Given the description of an element on the screen output the (x, y) to click on. 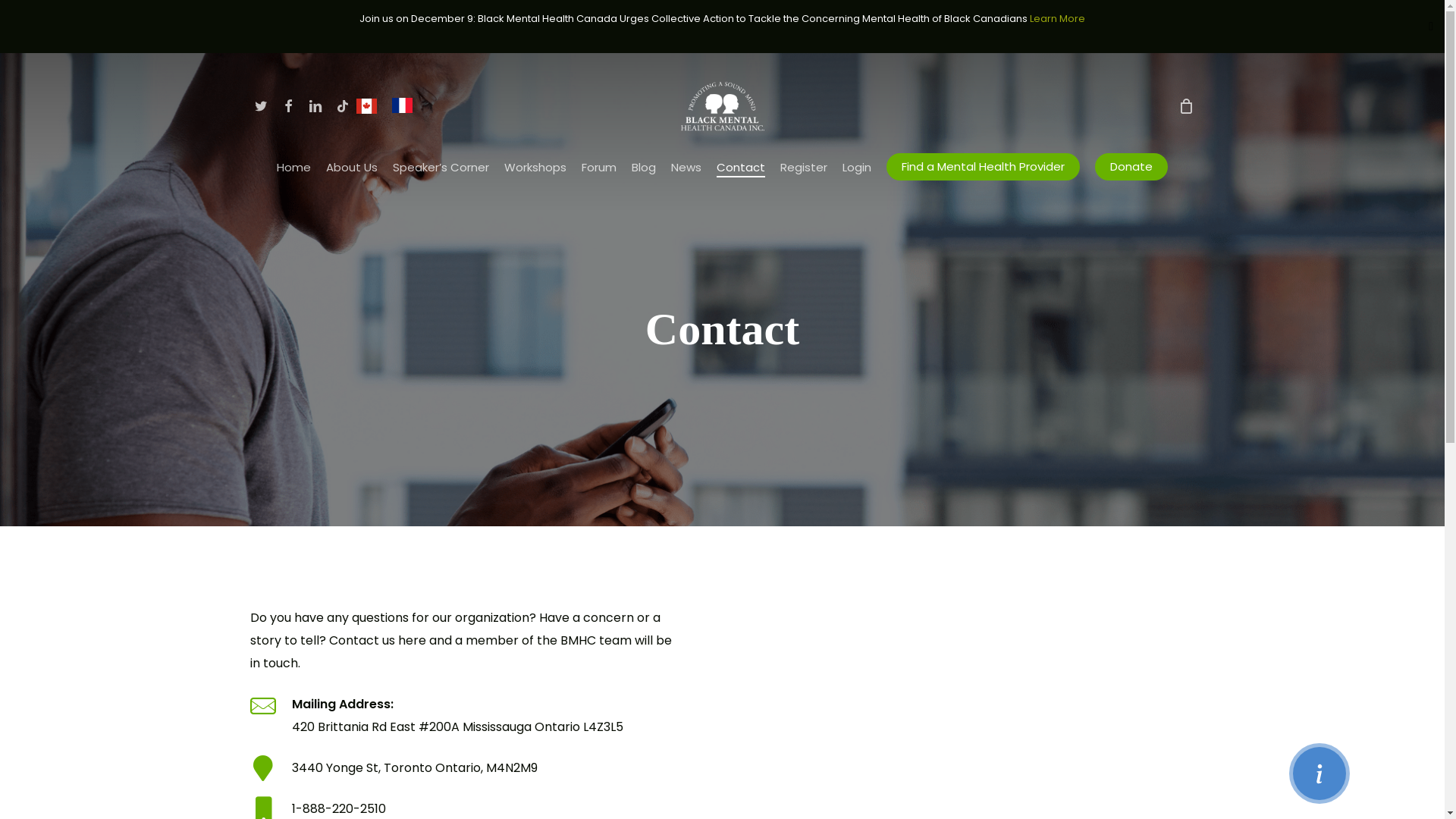
Blog Element type: text (643, 167)
Login Element type: text (856, 167)
Donate Element type: text (1131, 167)
About Us Element type: text (351, 167)
Contact Element type: text (740, 167)
Register Element type: text (803, 167)
Forum Element type: text (598, 167)
Language switcher : French Element type: hover (405, 104)
Find a Mental Health Provider Element type: text (982, 167)
Learn More Element type: text (1057, 18)
Home Element type: text (293, 167)
News Element type: text (686, 167)
Workshops Element type: text (535, 167)
